Given the description of an element on the screen output the (x, y) to click on. 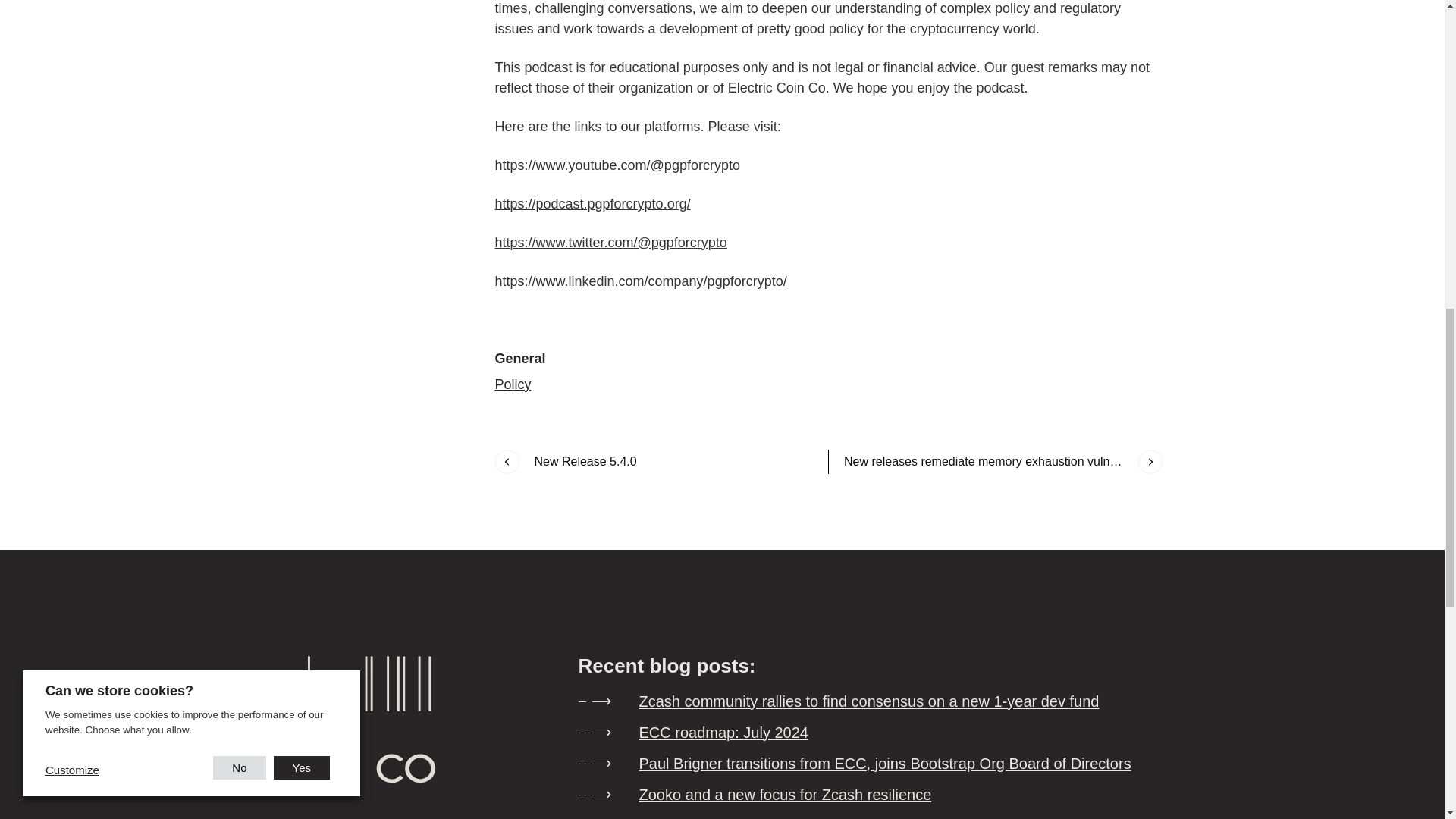
New Release 5.4.0 (653, 461)
Policy (513, 384)
General (519, 358)
Zooko and a new focus for Zcash resilience (862, 794)
ECC roadmap: July 2024 (862, 732)
